Given the description of an element on the screen output the (x, y) to click on. 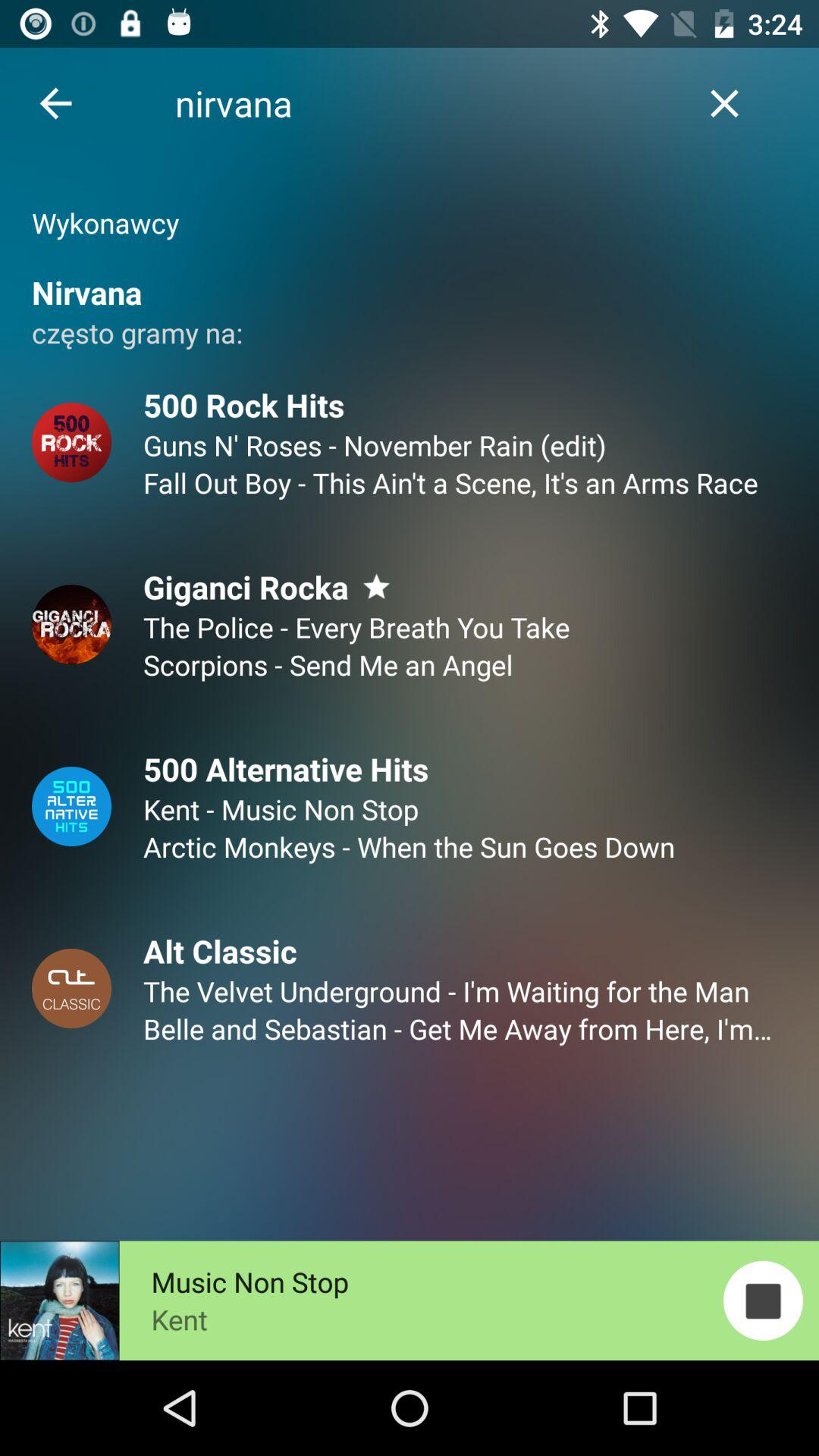
choose item above wykonawcy item (724, 103)
